Given the description of an element on the screen output the (x, y) to click on. 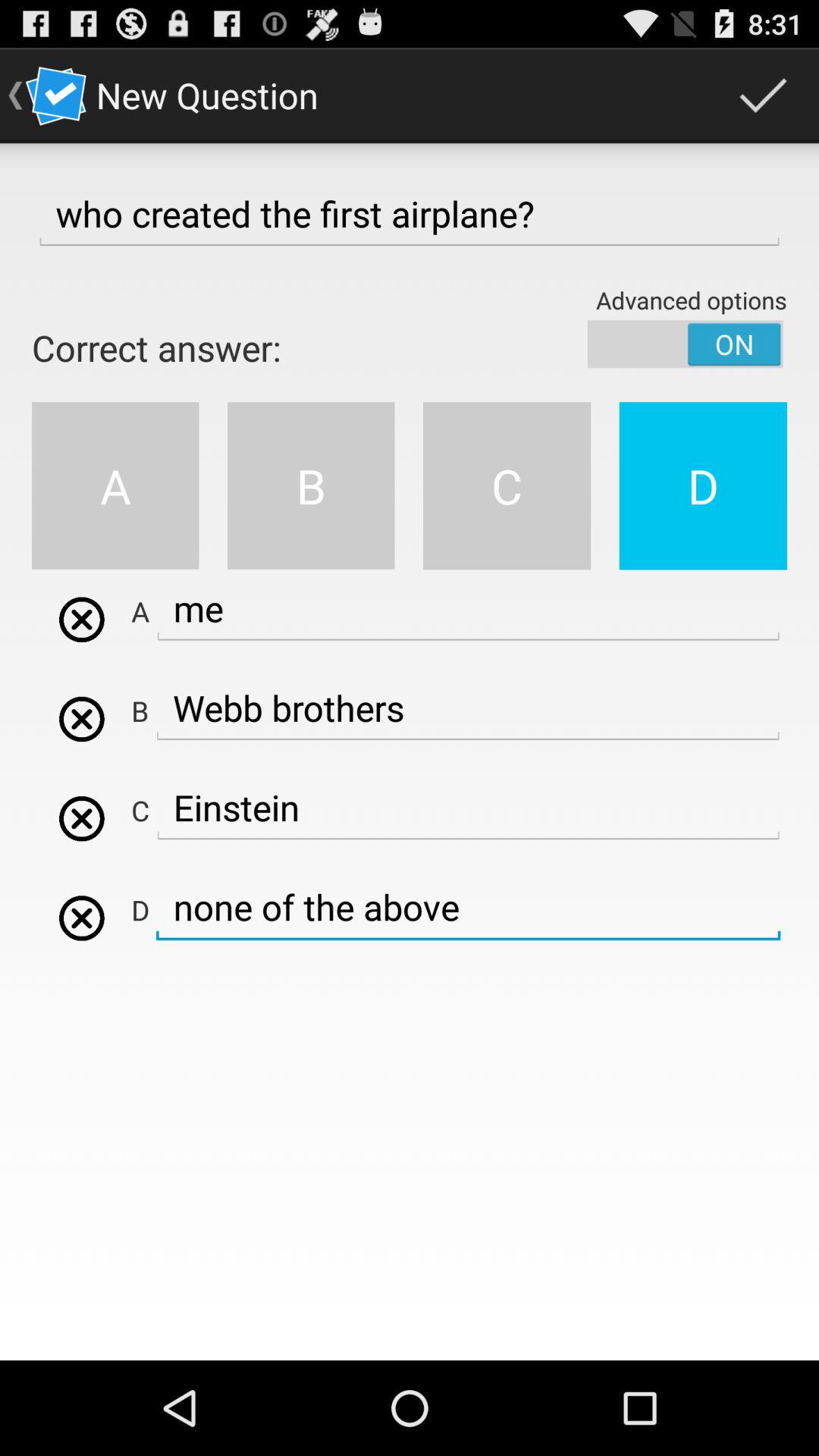
select button (81, 918)
